Given the description of an element on the screen output the (x, y) to click on. 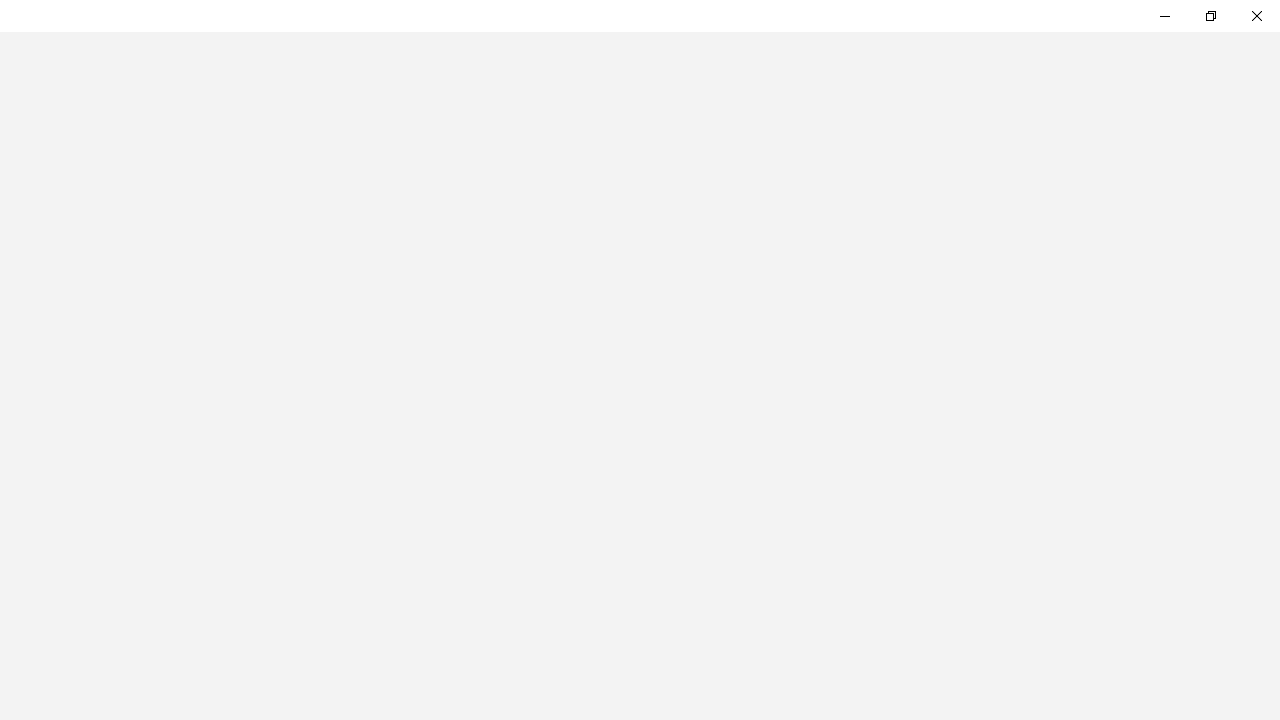
Minimize Feedback Hub (1164, 15)
Vertical Small Decrease (1272, 38)
Close Feedback Hub (1256, 15)
Restore Feedback Hub (1210, 15)
